Given the description of an element on the screen output the (x, y) to click on. 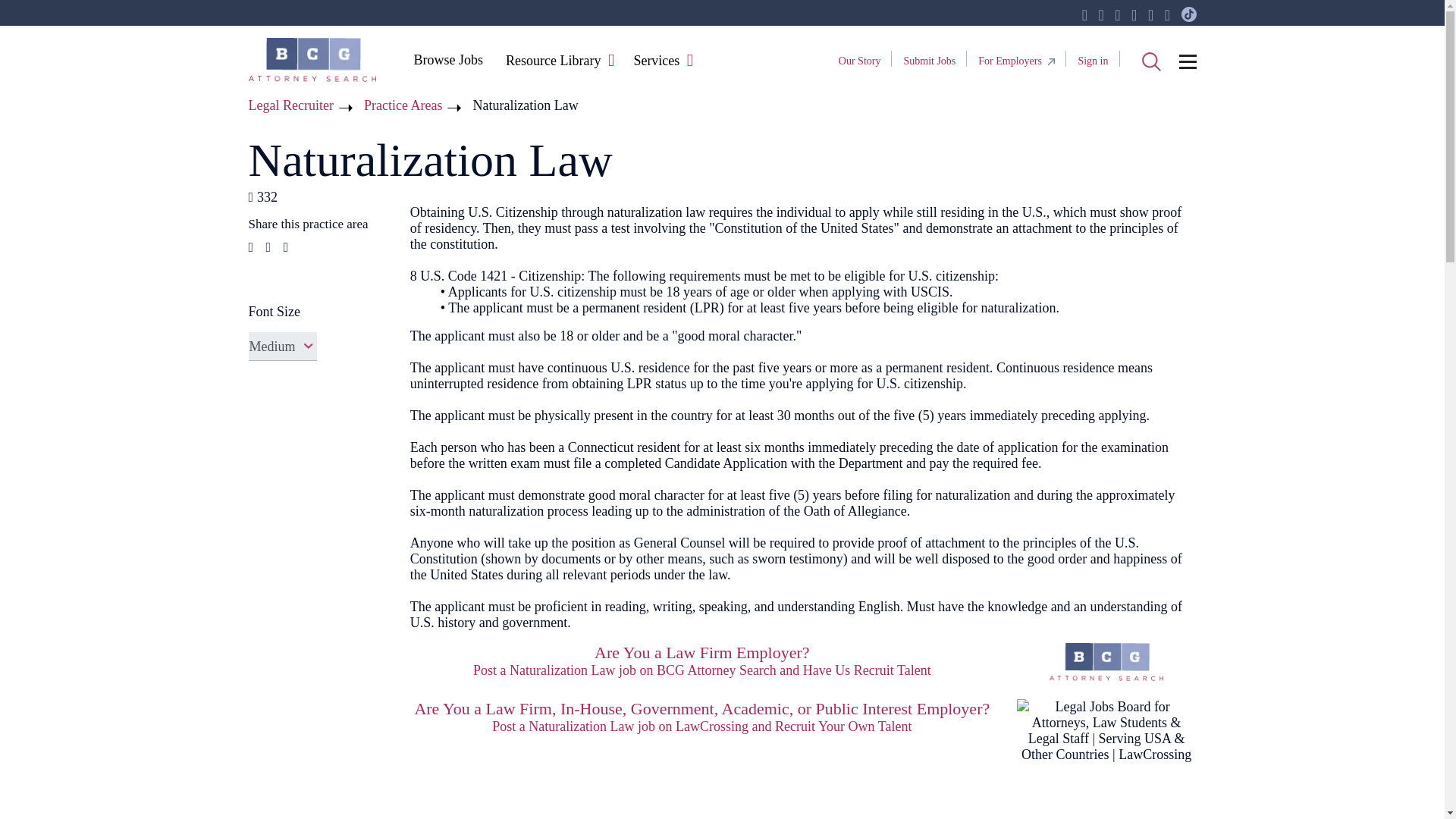
BCG Attorney Search Tiktok (1188, 14)
Browse Jobs (448, 59)
Share on Twitter (268, 246)
BCG Attorney Search Pinterest (1150, 14)
Services (655, 61)
BCG Attorney Search Youtube (1134, 14)
BCG Attorney Search Linkedin (1117, 14)
BCG Attorney Search Twitter (1100, 14)
Share on Facebook (250, 246)
Share on Linkedin (285, 246)
Resource Library (553, 61)
BCG Attorney Search Facebook (1084, 14)
BCG Attorney Search Instagram (1167, 14)
